Given the description of an element on the screen output the (x, y) to click on. 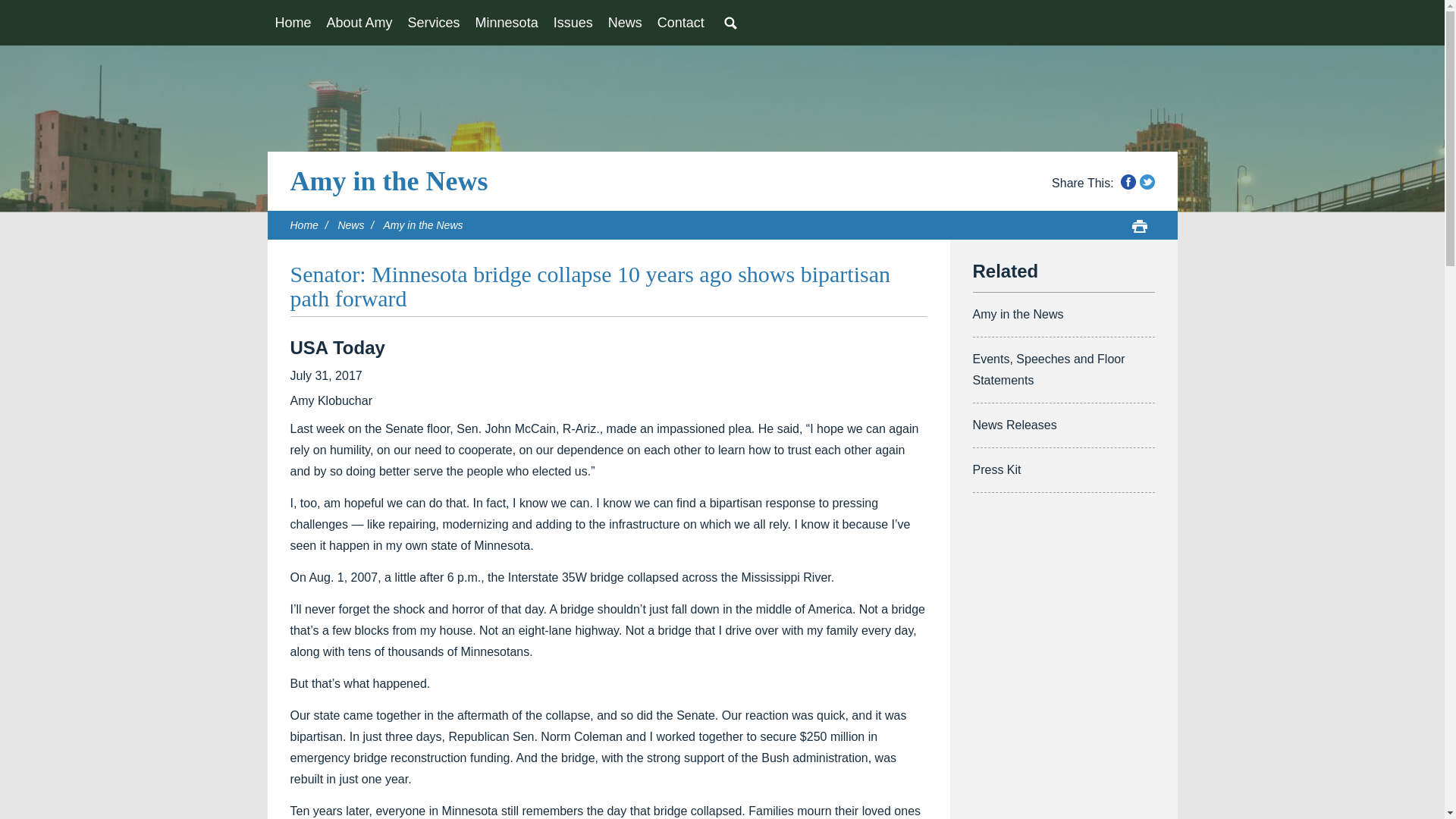
Issues (572, 22)
Home (292, 22)
Services (433, 22)
About Amy (359, 22)
Minnesota (506, 22)
